Given the description of an element on the screen output the (x, y) to click on. 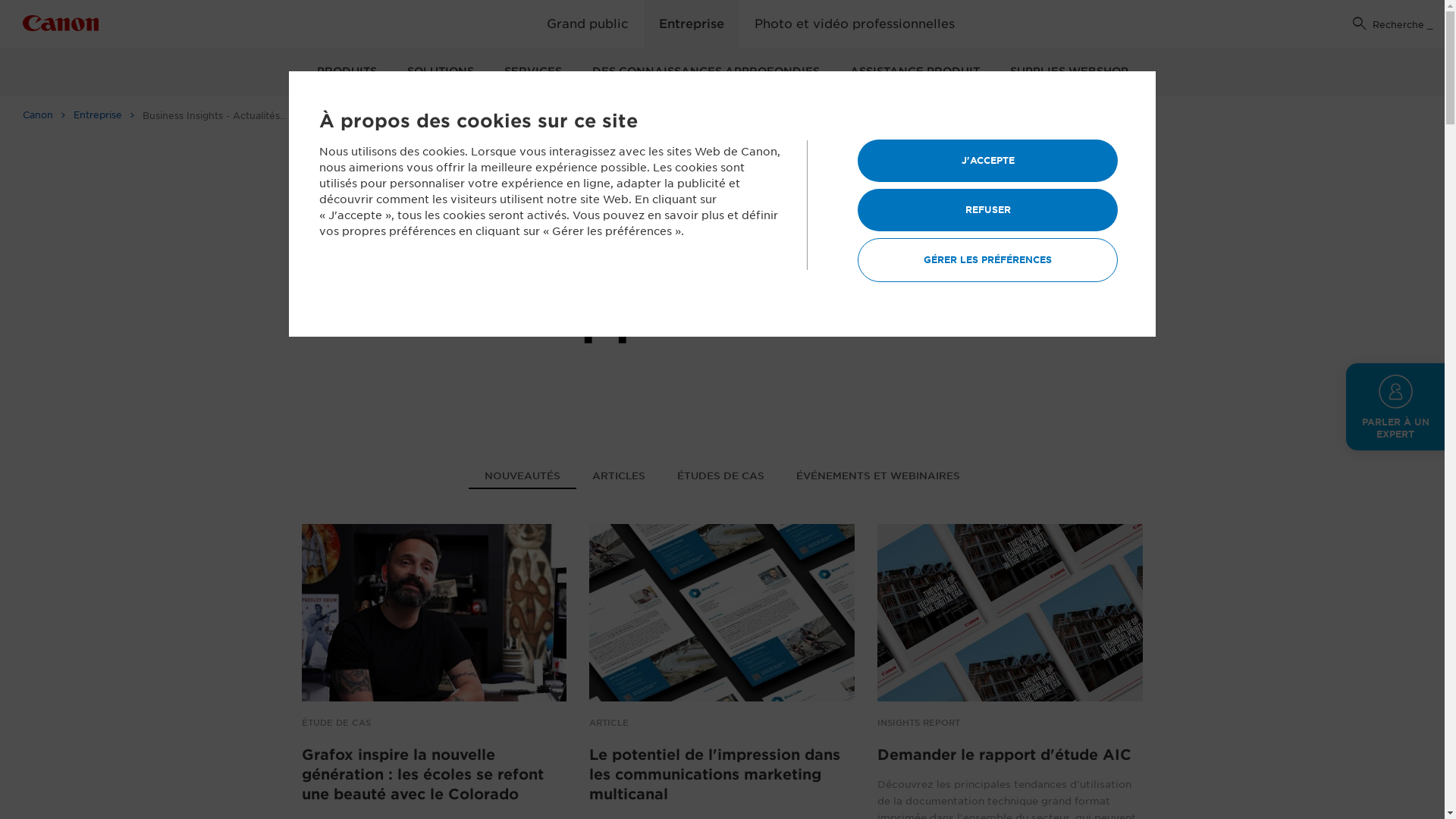
Entreprise Element type: text (103, 114)
DES CONNAISSANCES APPROFONDIES Element type: text (705, 72)
Entreprise Element type: text (690, 24)
PRODUITS Element type: text (346, 72)
REFUSER Element type: text (987, 209)
ASSISTANCE PRODUIT Element type: text (914, 72)
Grand public Element type: text (586, 24)
SOLUTIONS Element type: text (439, 72)
ARTICLES Element type: text (618, 477)
SUPPLIES WEBSHOP Element type: text (1068, 72)
Canon Element type: text (43, 114)
J'ACCEPTE Element type: text (987, 160)
Canon Logo Element type: text (60, 26)
SERVICES Element type: text (532, 72)
